Given the description of an element on the screen output the (x, y) to click on. 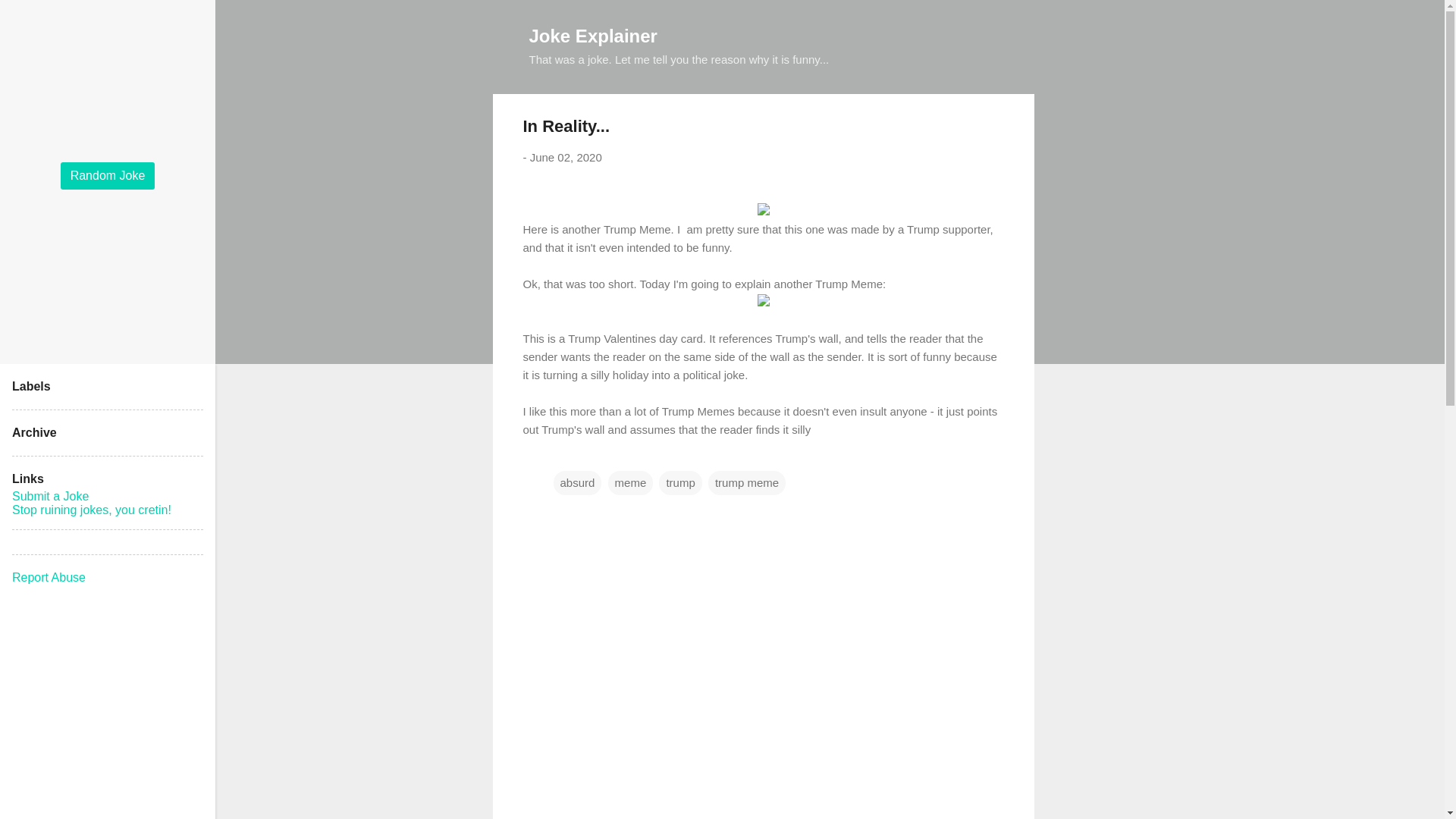
absurd (577, 482)
trump (680, 482)
June 02, 2020 (565, 156)
Joke Explainer (593, 35)
meme (630, 482)
Advertisement (1118, 690)
Advertisement (1118, 321)
trump meme (746, 482)
permanent link (565, 156)
Search (29, 18)
